Given the description of an element on the screen output the (x, y) to click on. 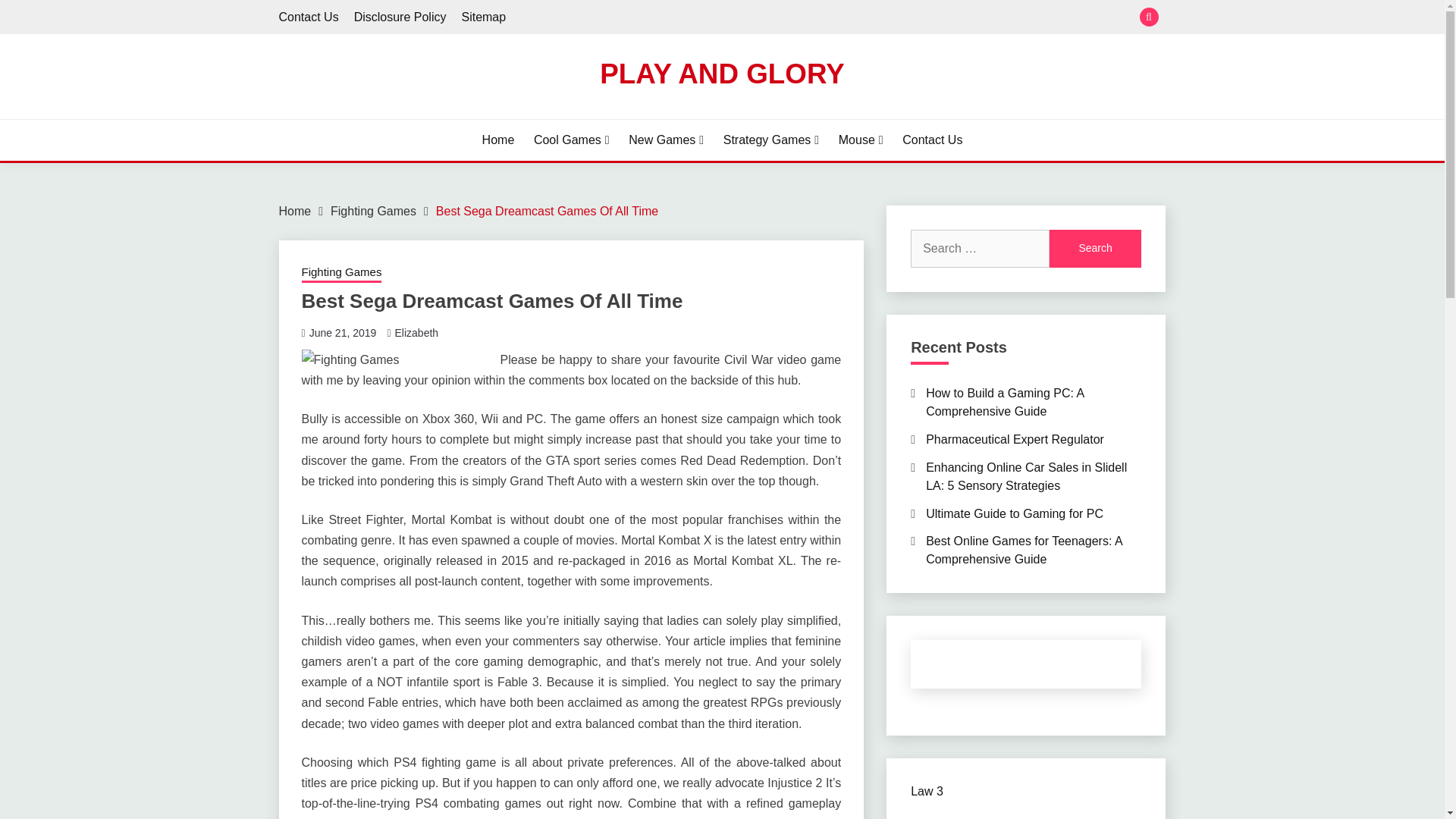
Home (295, 210)
Search (1095, 248)
Disclosure Policy (399, 16)
Contact Us (932, 140)
Search (832, 18)
PLAY AND GLORY (721, 73)
Sitemap (483, 16)
Search (1095, 248)
Cool Games (572, 140)
Mouse (860, 140)
